Given the description of an element on the screen output the (x, y) to click on. 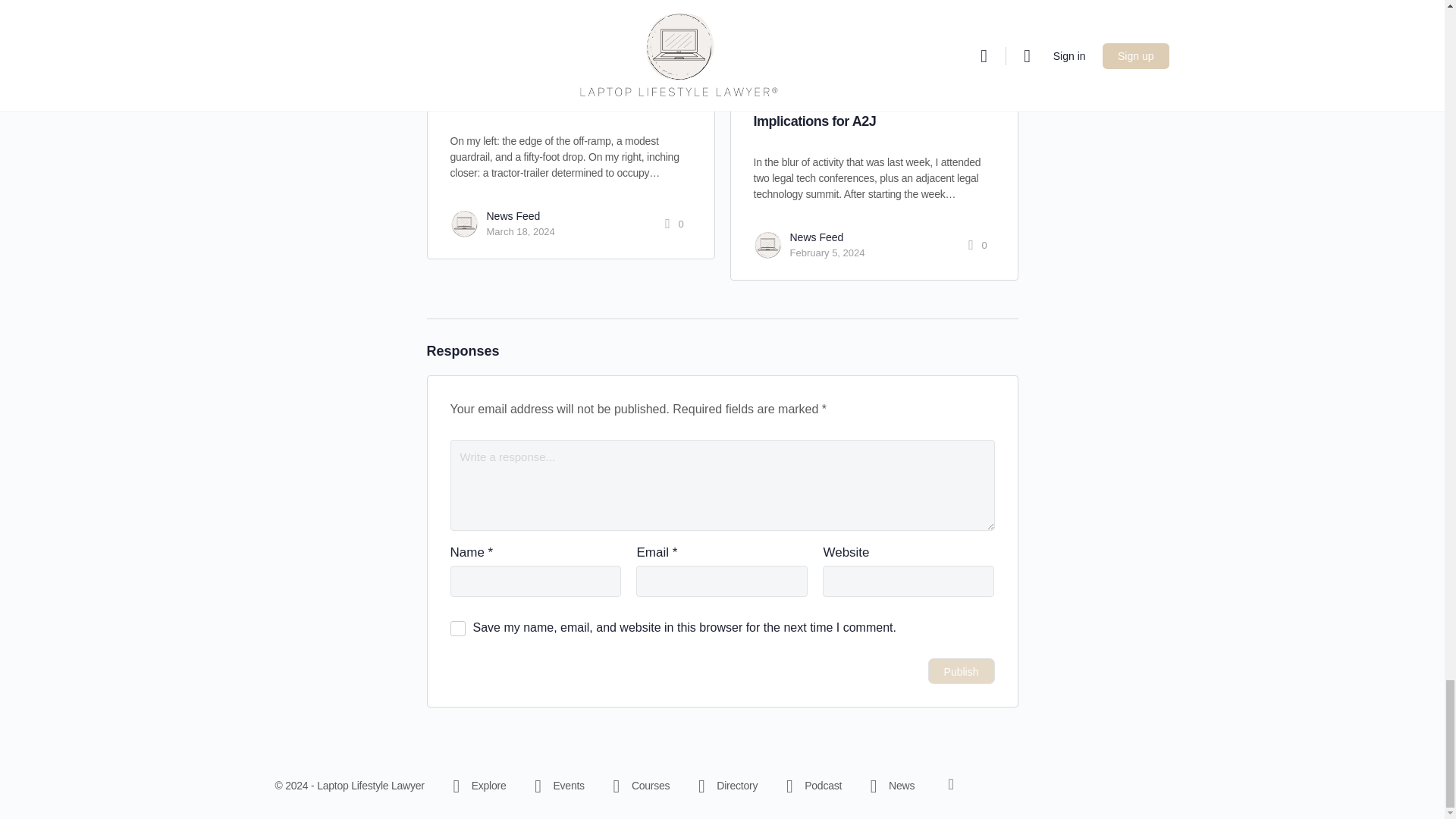
Publish (961, 670)
